Given the description of an element on the screen output the (x, y) to click on. 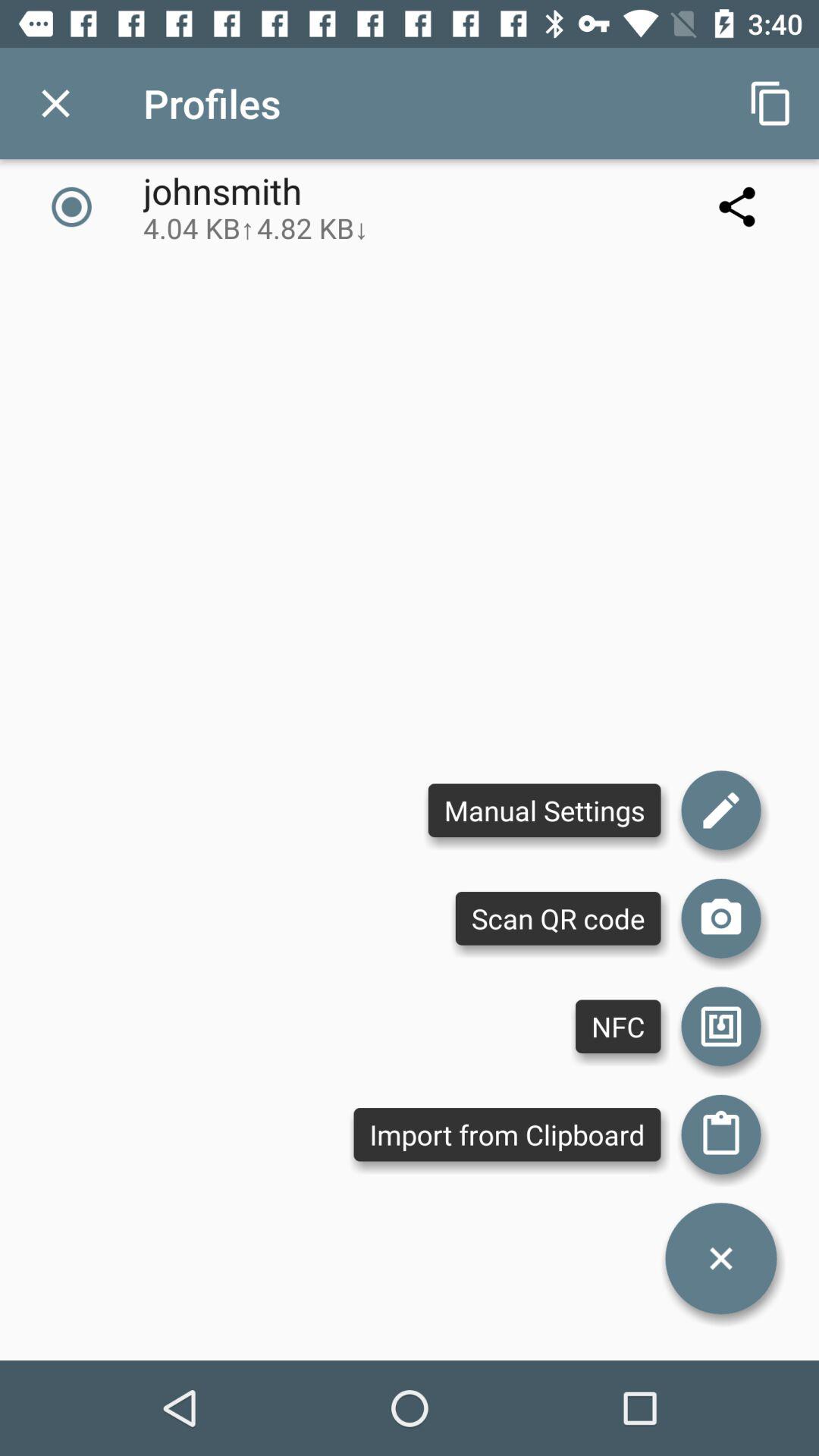
flip until scan qr code (558, 918)
